Given the description of an element on the screen output the (x, y) to click on. 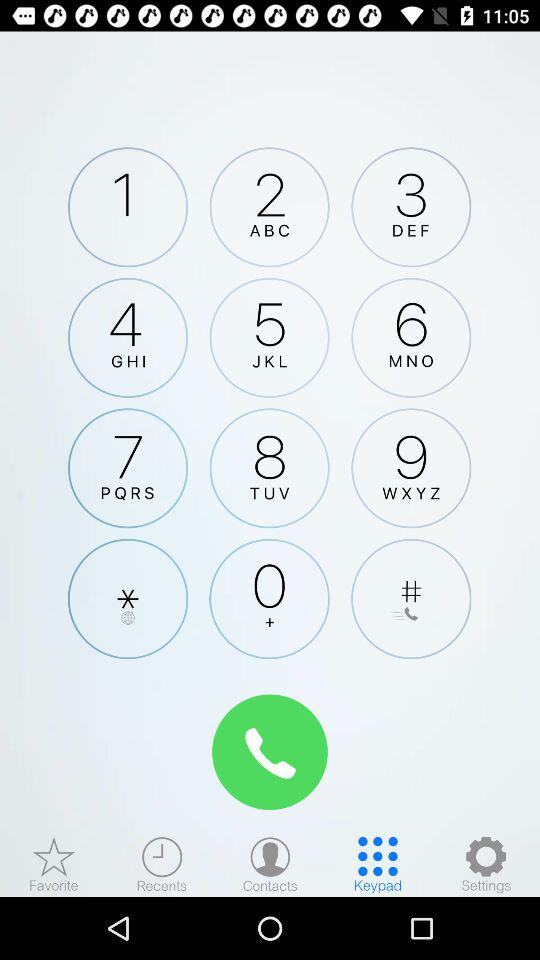
view phone and messaging contacts (269, 864)
